Given the description of an element on the screen output the (x, y) to click on. 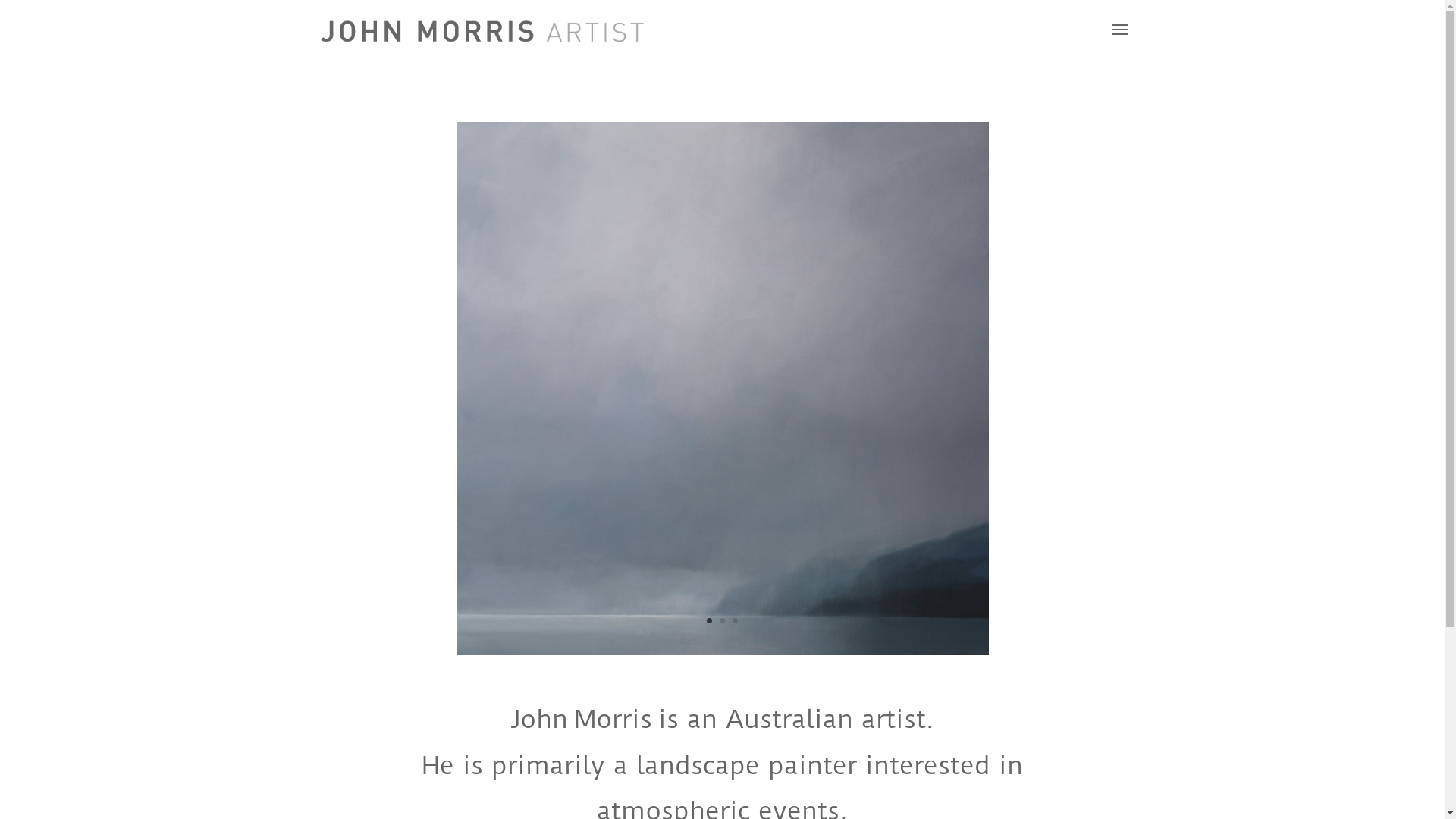
1 Element type: text (709, 620)
3 Element type: text (734, 620)
Southern-Coast-102x102cm-oil-on-linen-2021-22- Element type: hover (722, 650)
2 Element type: text (721, 620)
